Given the description of an element on the screen output the (x, y) to click on. 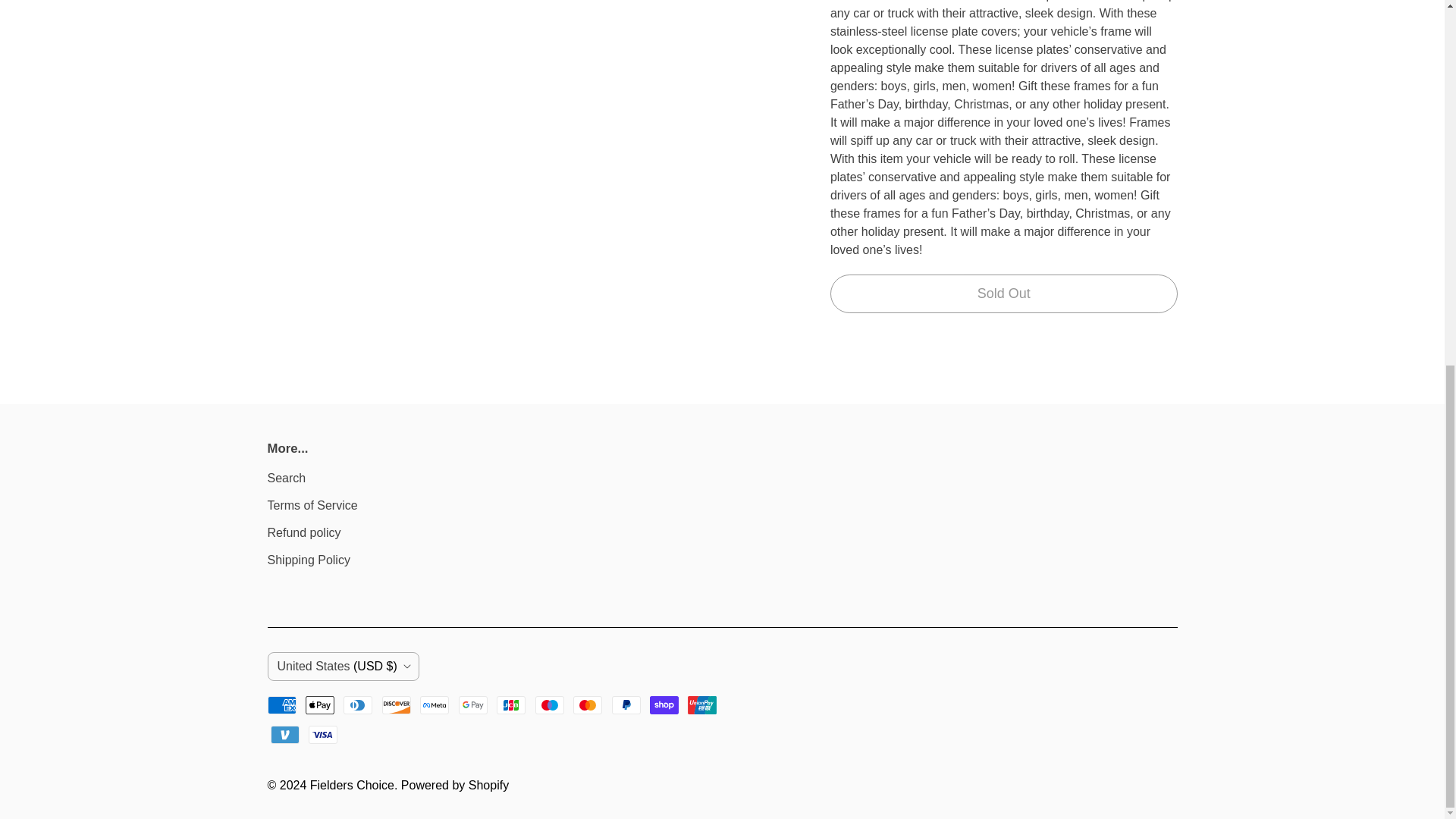
JCB (510, 705)
Visa (322, 734)
Maestro (549, 705)
Meta Pay (434, 705)
PayPal (625, 705)
Apple Pay (319, 705)
Google Pay (472, 705)
Mastercard (587, 705)
Venmo (283, 734)
Union Pay (701, 705)
Shop Pay (663, 705)
Discover (395, 705)
Diners Club (357, 705)
American Express (280, 705)
